Given the description of an element on the screen output the (x, y) to click on. 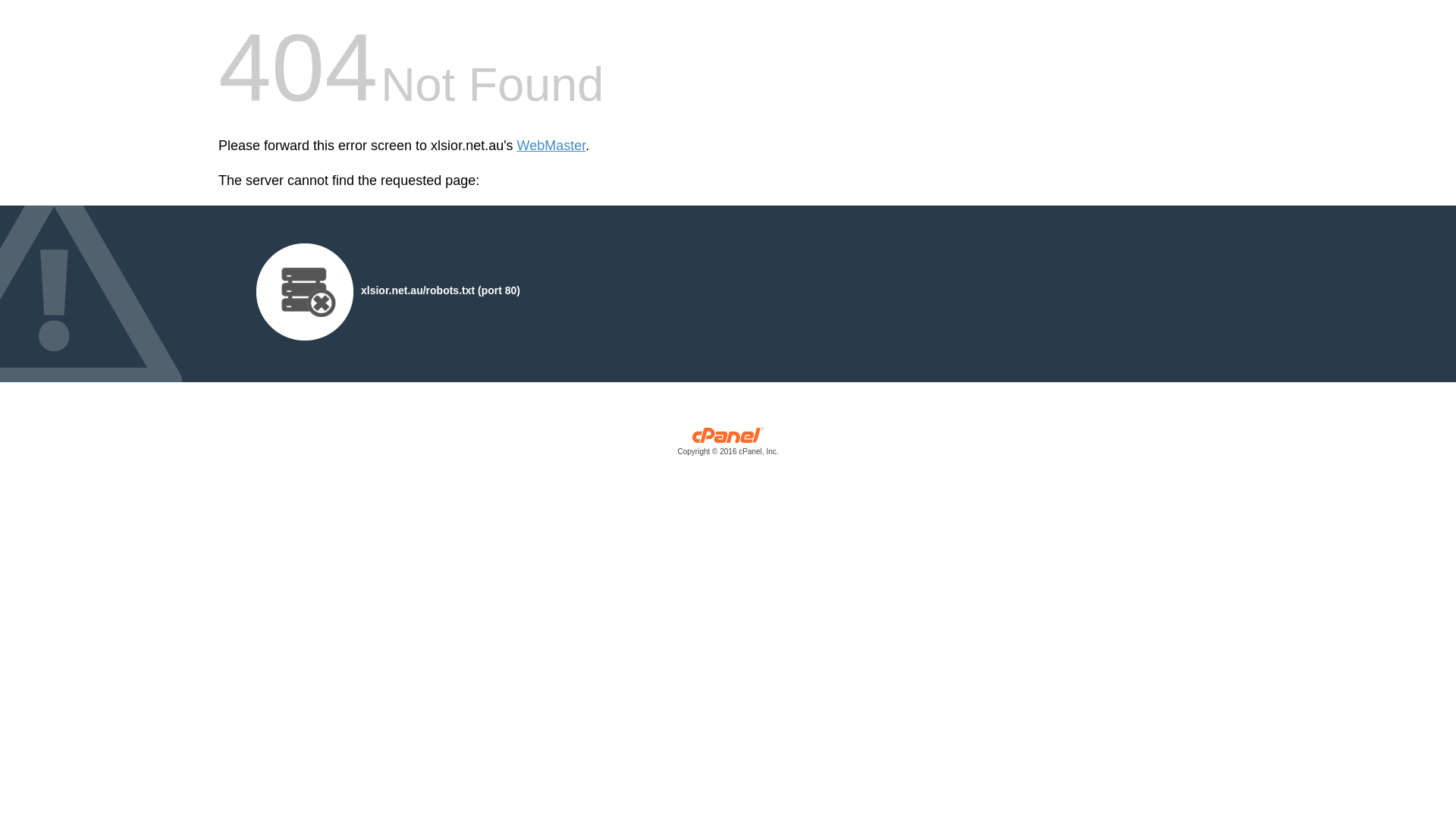
WebMaster Element type: text (551, 145)
